Given the description of an element on the screen output the (x, y) to click on. 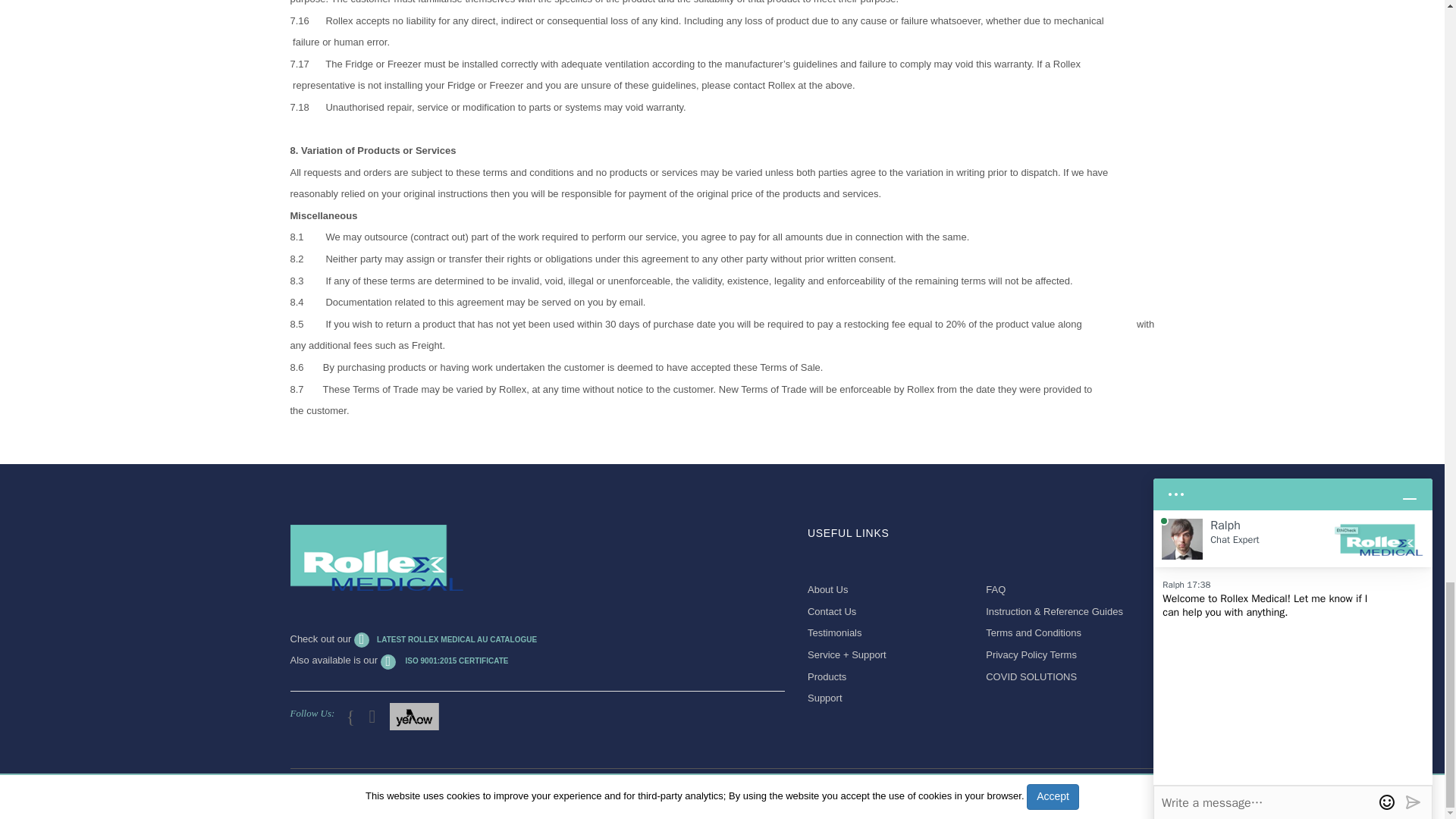
Ethicheck (376, 557)
Rollex ISO 9001 Certificate.pdf (444, 660)
Rollex Medical AUS Catalogue 2023-2024.pdf (445, 639)
